Given the description of an element on the screen output the (x, y) to click on. 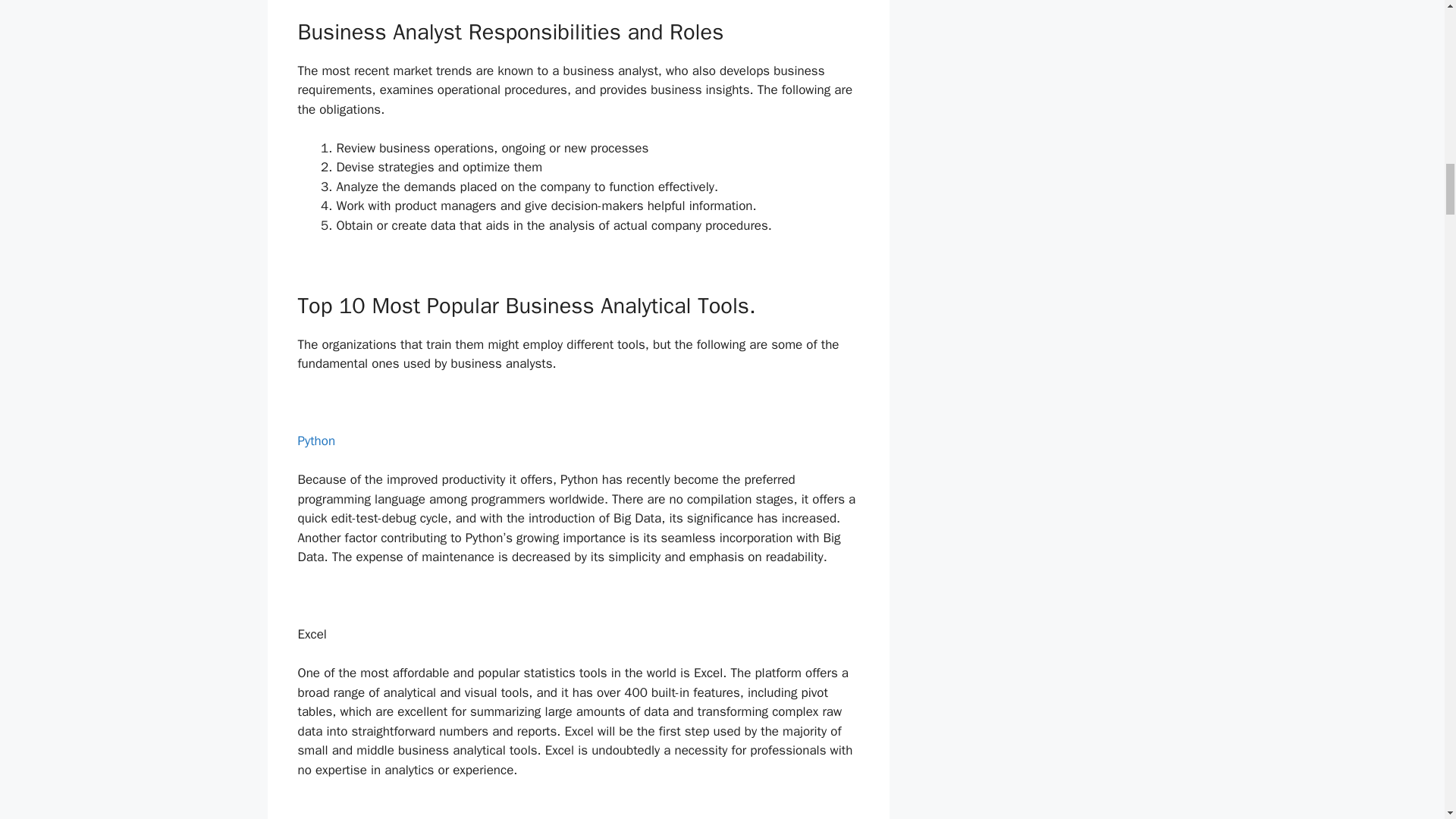
Python (315, 440)
